Given the description of an element on the screen output the (x, y) to click on. 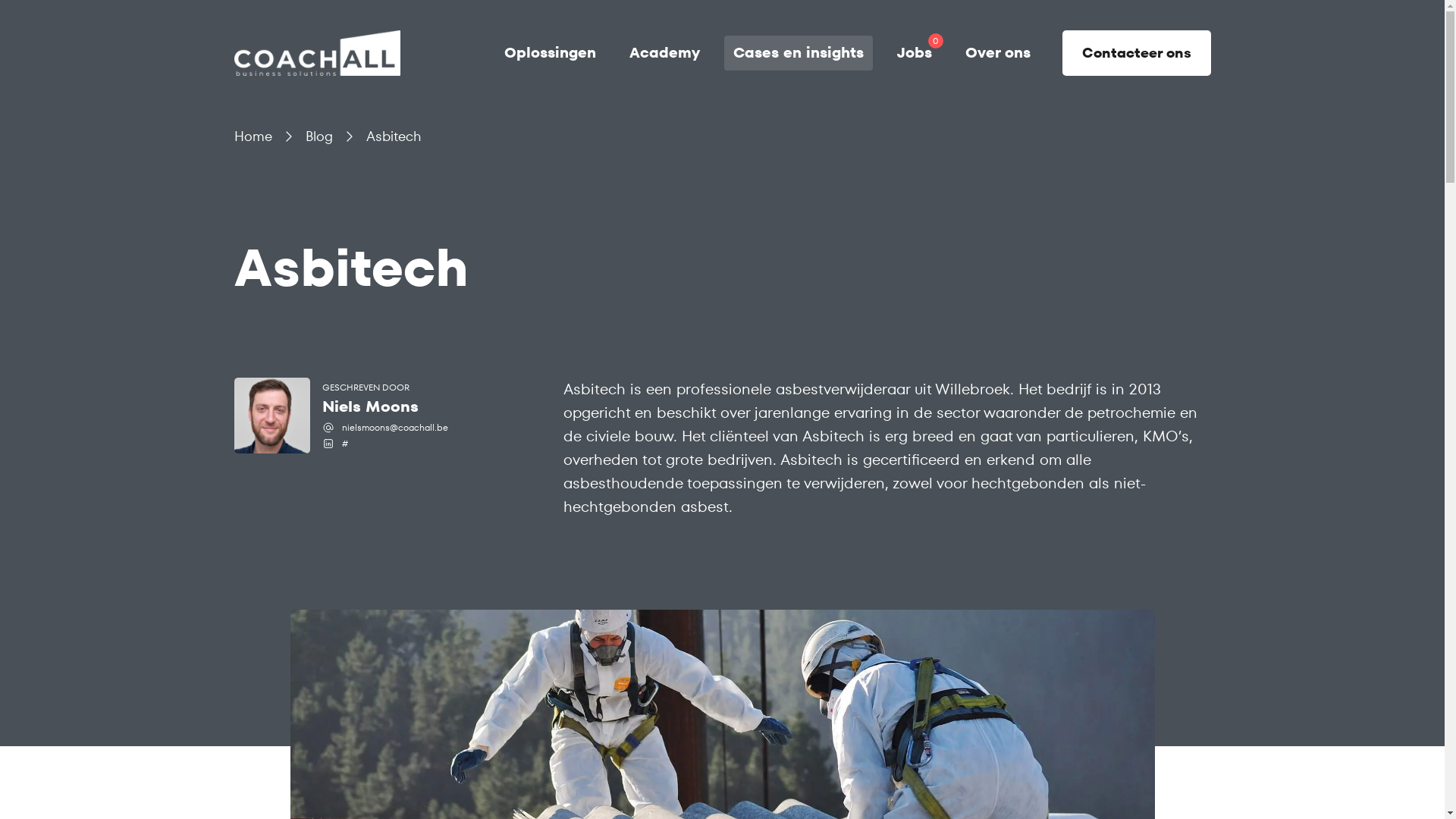
Asbitech Element type: text (392, 136)
Academy Element type: text (664, 52)
nielsmoons@coachall.be Element type: text (394, 427)
Cases en insights Element type: text (797, 52)
Oplossingen Element type: text (549, 52)
Jobs Element type: text (913, 52)
Over ons Element type: text (996, 52)
Blog Element type: text (318, 136)
Contacteer ons Element type: text (1135, 52)
Home Element type: text (252, 136)
Contacteer ons Element type: text (1132, 52)
# Element type: text (344, 443)
